Given the description of an element on the screen output the (x, y) to click on. 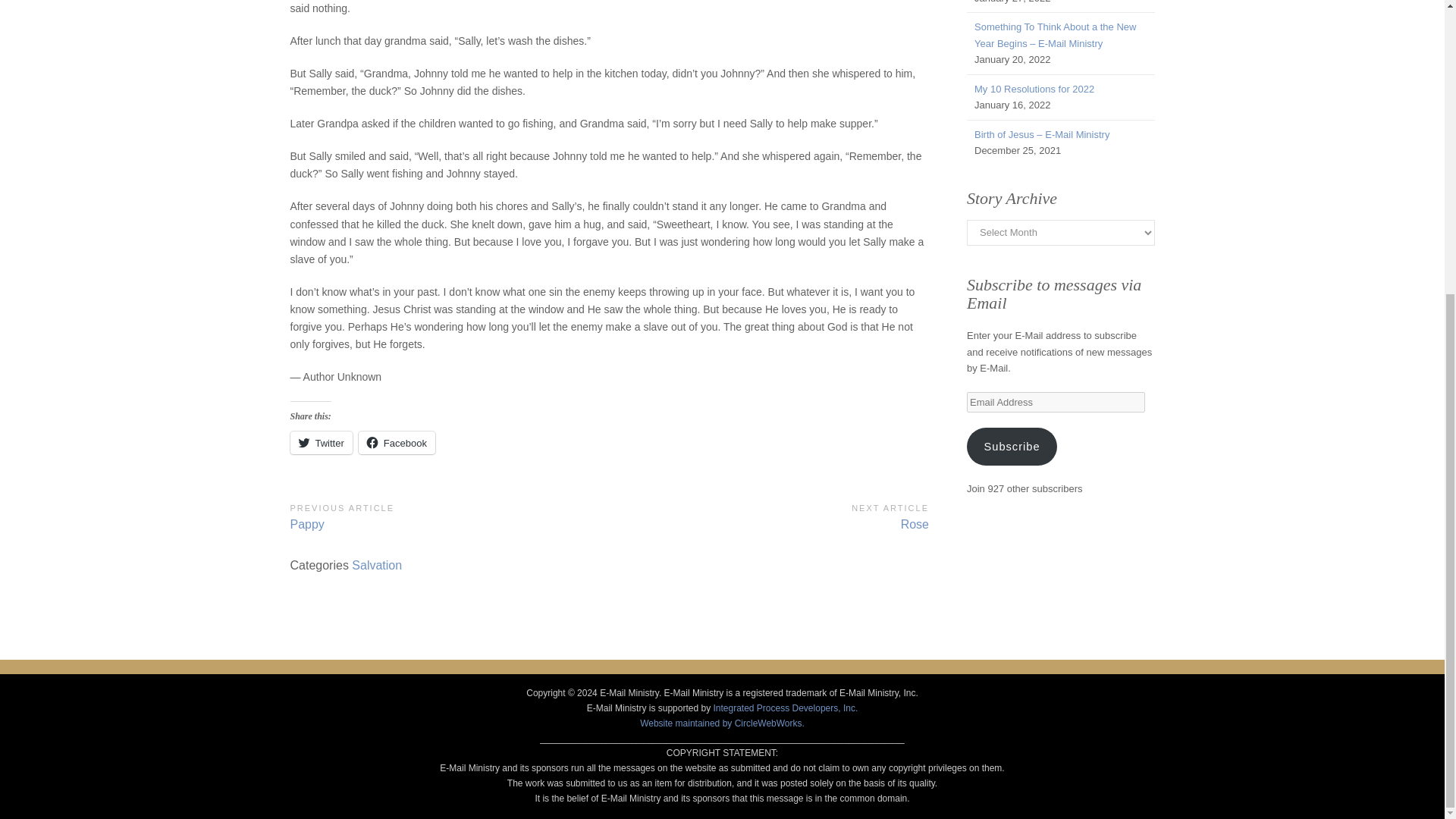
Subscribe (1011, 446)
Website maintained by CircleWebWorks. (722, 723)
Salvation (376, 564)
Twitter (769, 515)
Click to share on Twitter (448, 515)
My 10 Resolutions for 2022 (320, 442)
Facebook (320, 442)
Click to share on Facebook (1034, 89)
Integrated Process Developers, Inc. (396, 442)
